Given the description of an element on the screen output the (x, y) to click on. 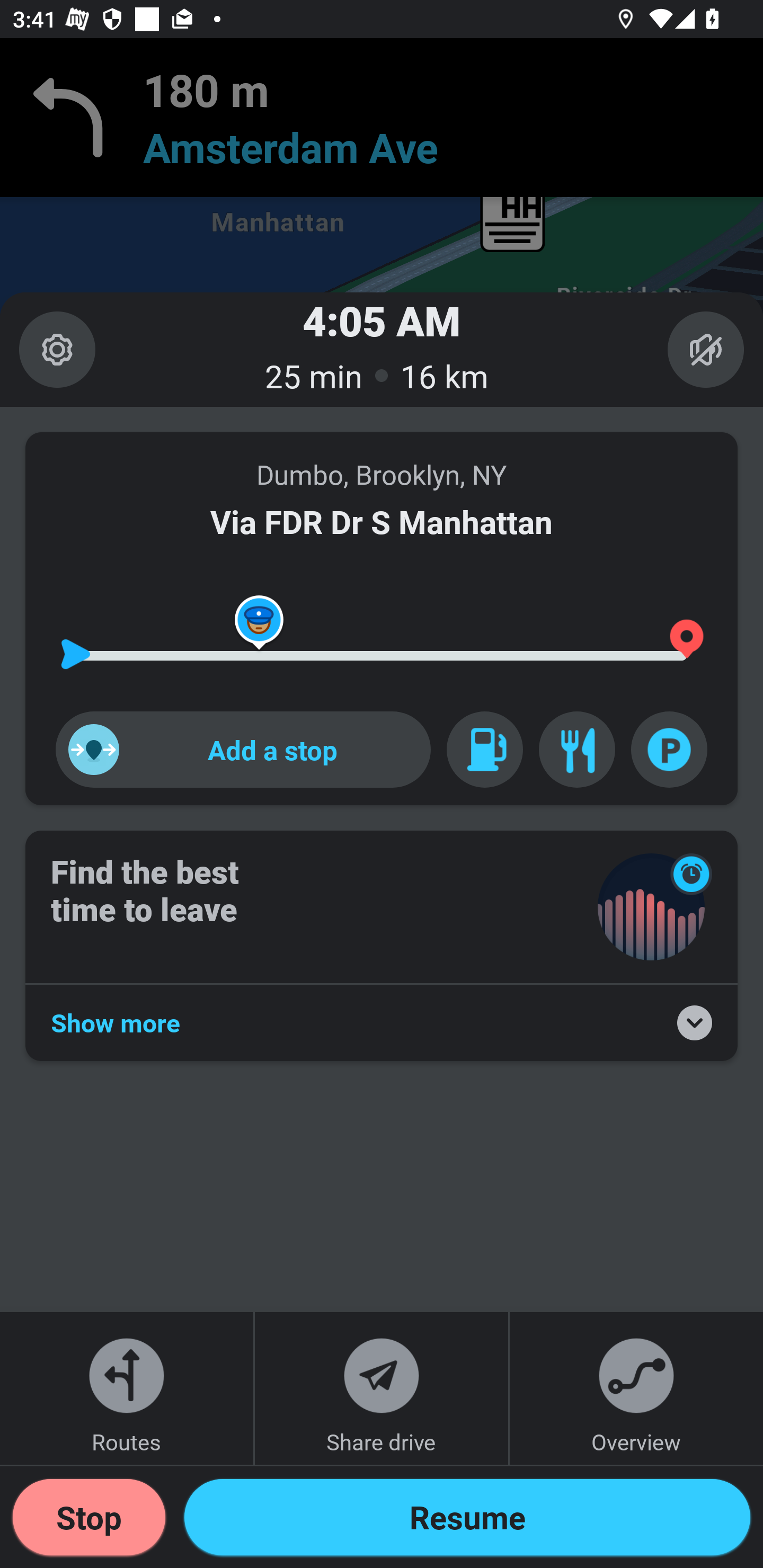
180 m Amsterdam Ave (381, 117)
4:05 AM 25 min 16 km (381, 348)
Add a stop (243, 749)
Find the best time to leave Show more (381, 946)
Routes (126, 1388)
Share drive (381, 1388)
Overview (636, 1388)
Stop (88, 1516)
ETA_DRAWER_GO_BUTTON Resume (466, 1516)
